Given the description of an element on the screen output the (x, y) to click on. 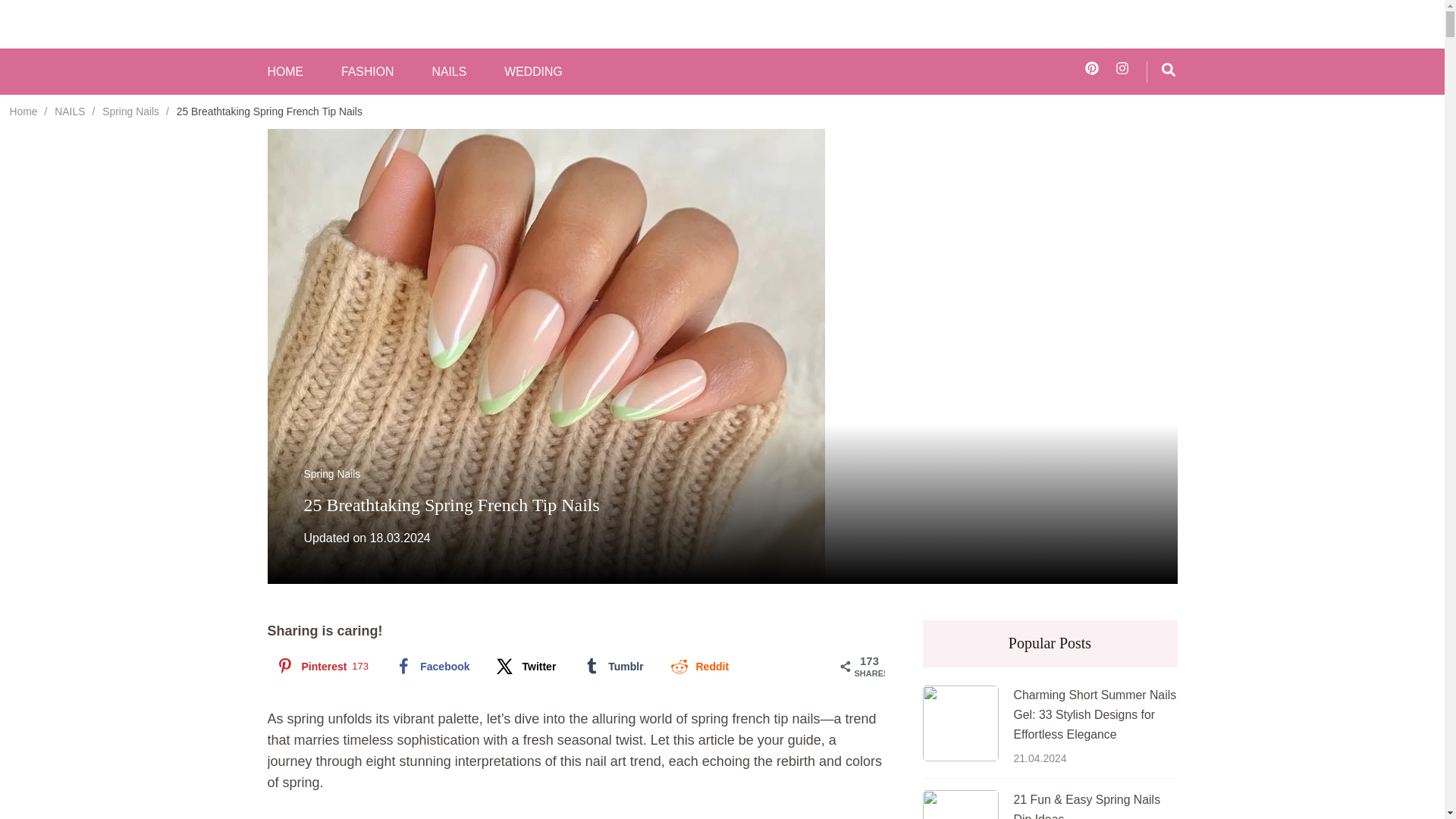
WEDDING (532, 71)
Share on Tumblr (611, 666)
HOME (284, 71)
NAILS (447, 71)
Save to Pinterest (320, 666)
Share on Reddit (698, 666)
Share on Facebook (430, 666)
FASHION (366, 71)
Share on X (524, 666)
